Given the description of an element on the screen output the (x, y) to click on. 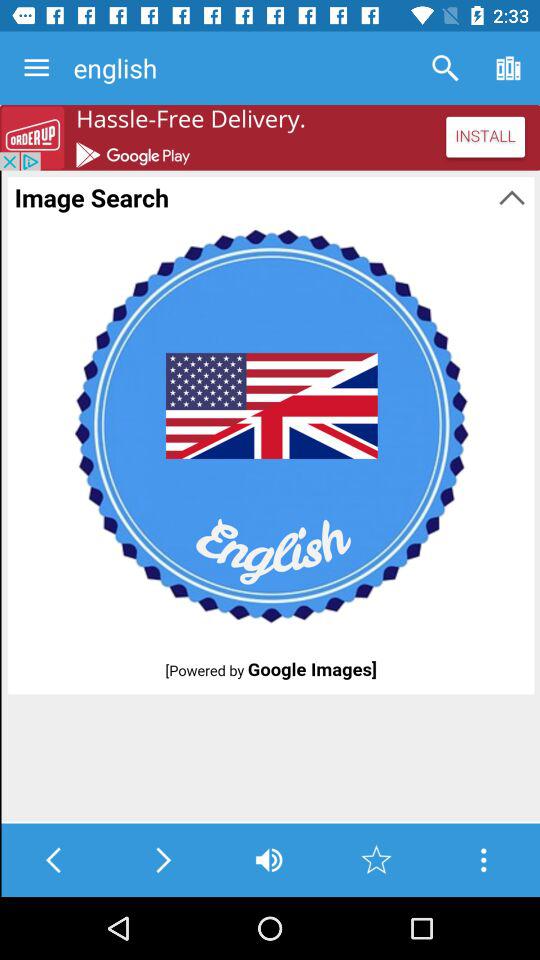
favorite the current element (376, 859)
